Given the description of an element on the screen output the (x, y) to click on. 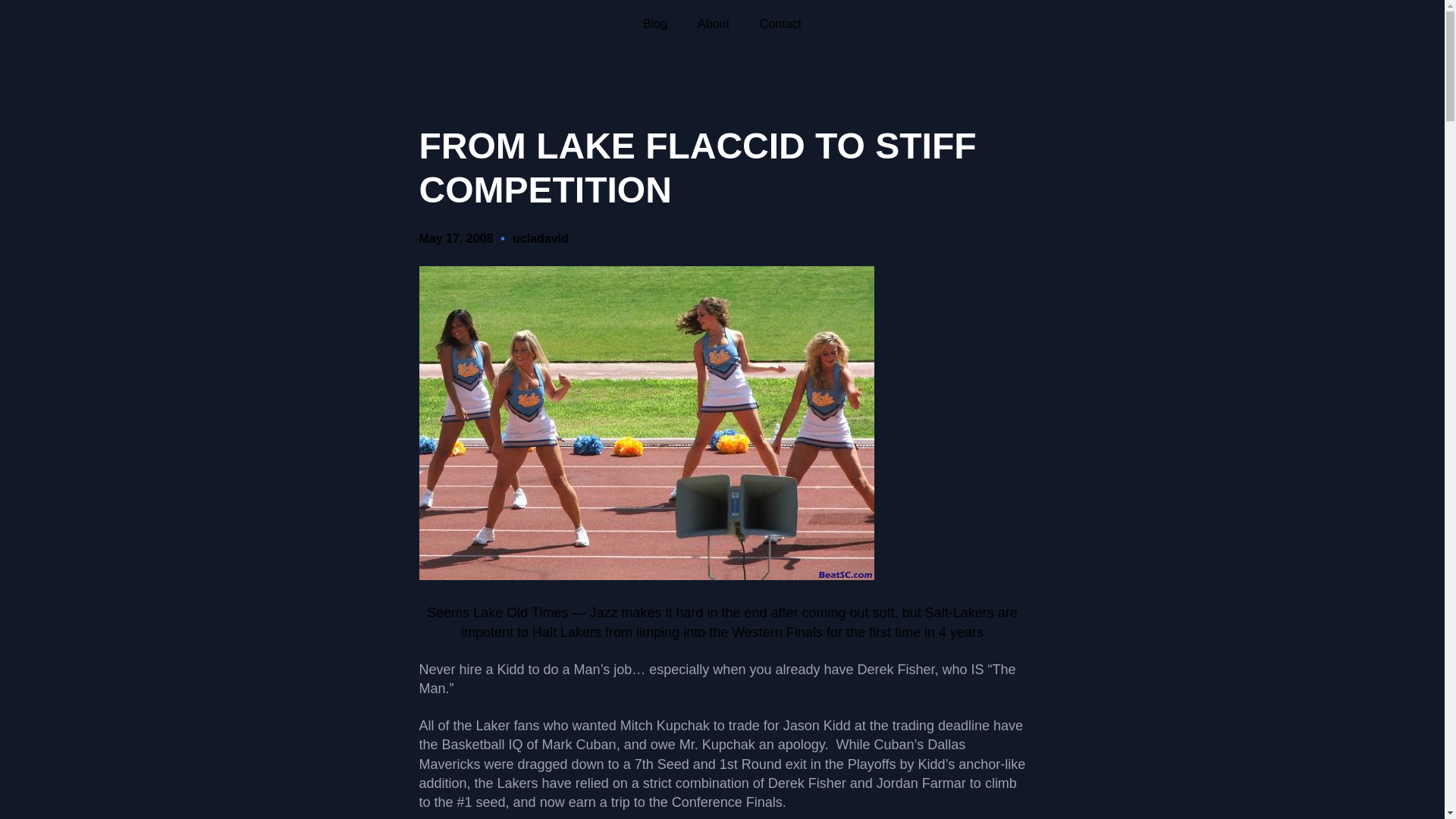
About (713, 24)
Contact (781, 24)
Blog (654, 24)
ucladavid (540, 237)
